Given the description of an element on the screen output the (x, y) to click on. 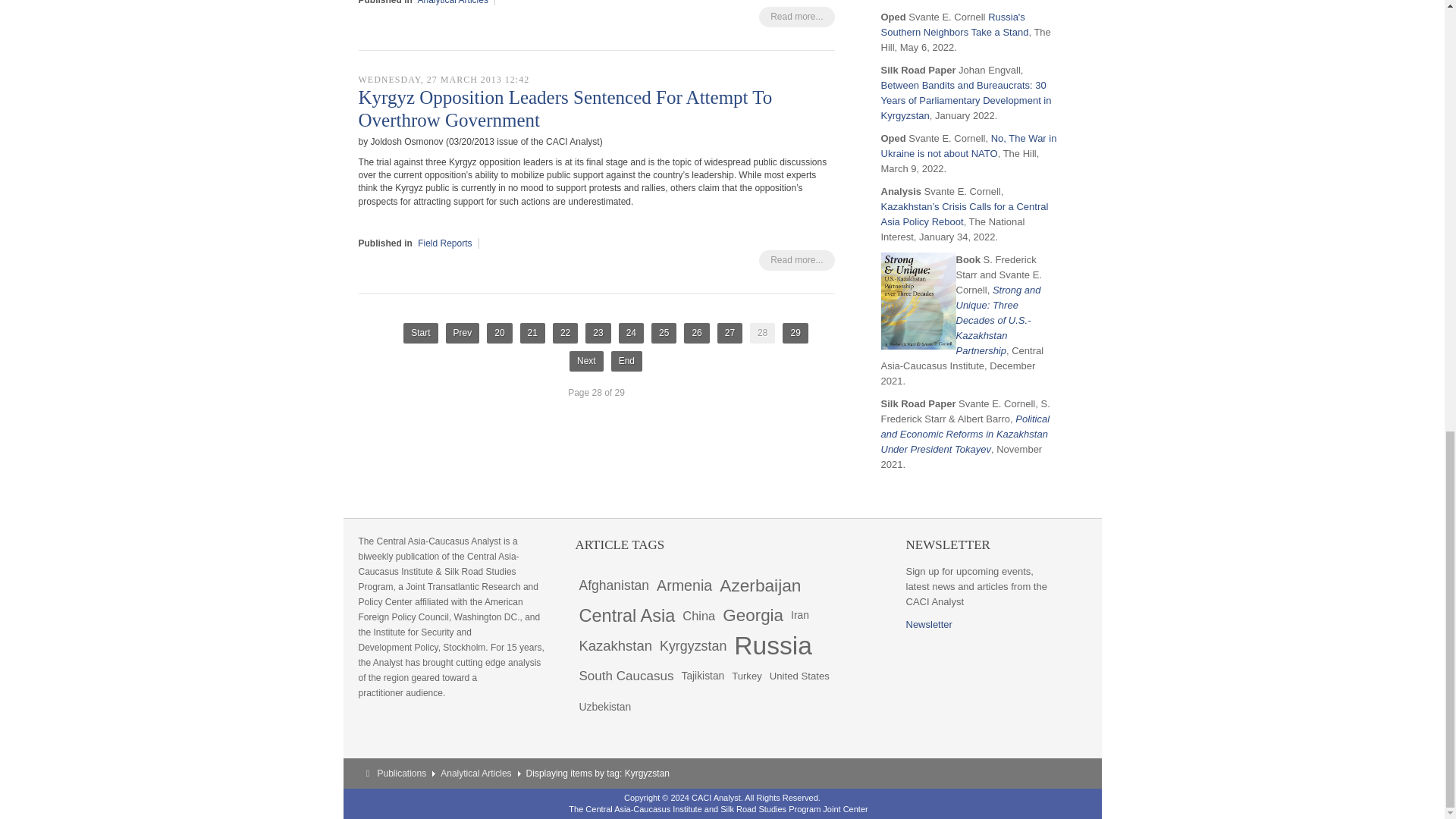
Read more... (796, 260)
114 items tagged with Afghanistan (613, 585)
Prev (462, 332)
End (626, 361)
24 (630, 332)
Start (420, 332)
Start (420, 332)
29 (795, 332)
22 (565, 332)
23 (597, 332)
21 (531, 332)
Analytical Articles (452, 2)
20 (499, 332)
21 (531, 332)
Field Reports (444, 243)
